Given the description of an element on the screen output the (x, y) to click on. 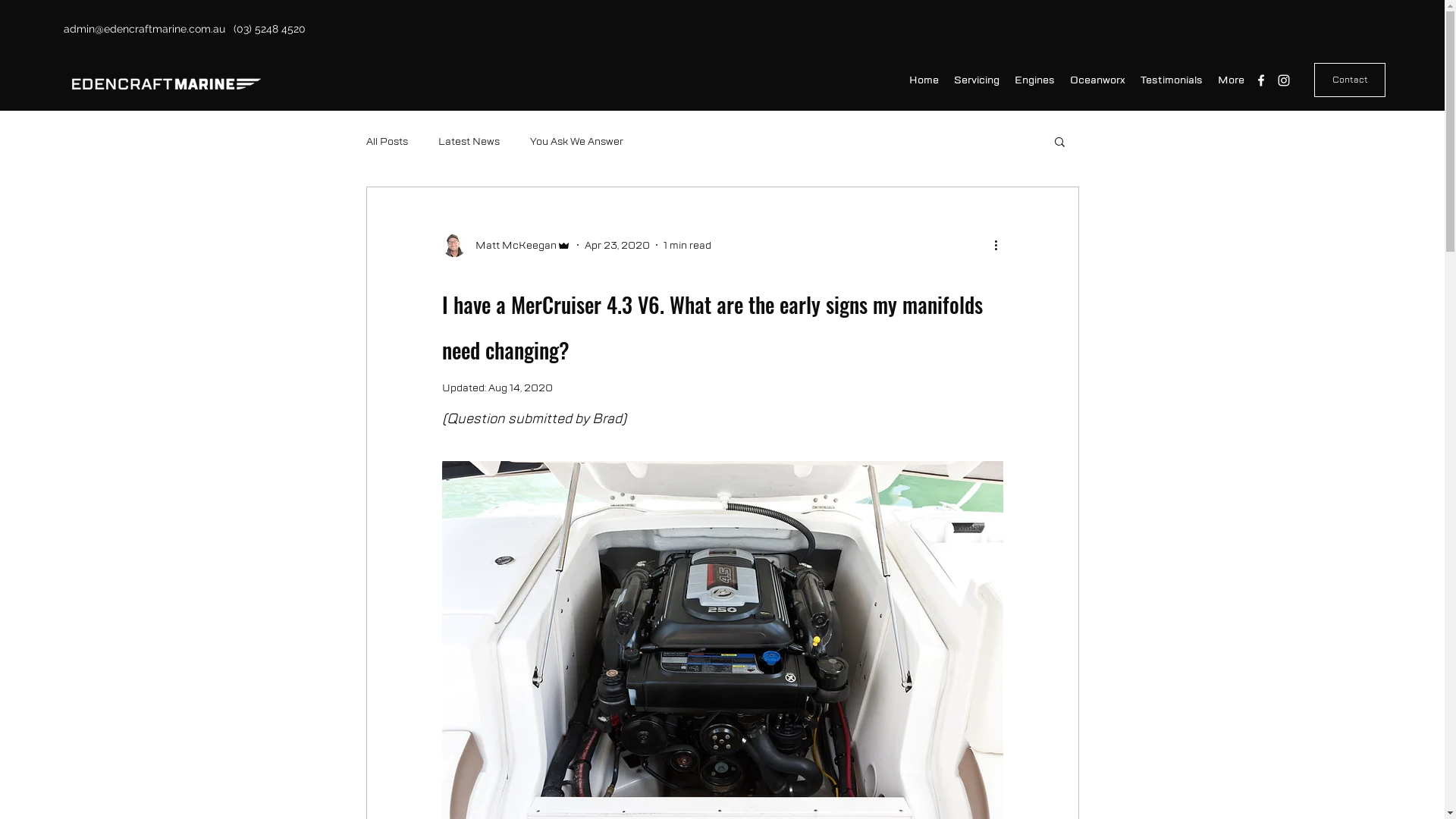
Testimonials Element type: text (1171, 80)
Engines Element type: text (1034, 80)
Servicing Element type: text (976, 80)
Home Element type: text (923, 80)
admin@edencraftmarine.com.au Element type: text (144, 28)
Oceanworx Element type: text (1097, 80)
Contact Element type: text (1349, 79)
Matt McKeegan Element type: text (505, 244)
